Given the description of an element on the screen output the (x, y) to click on. 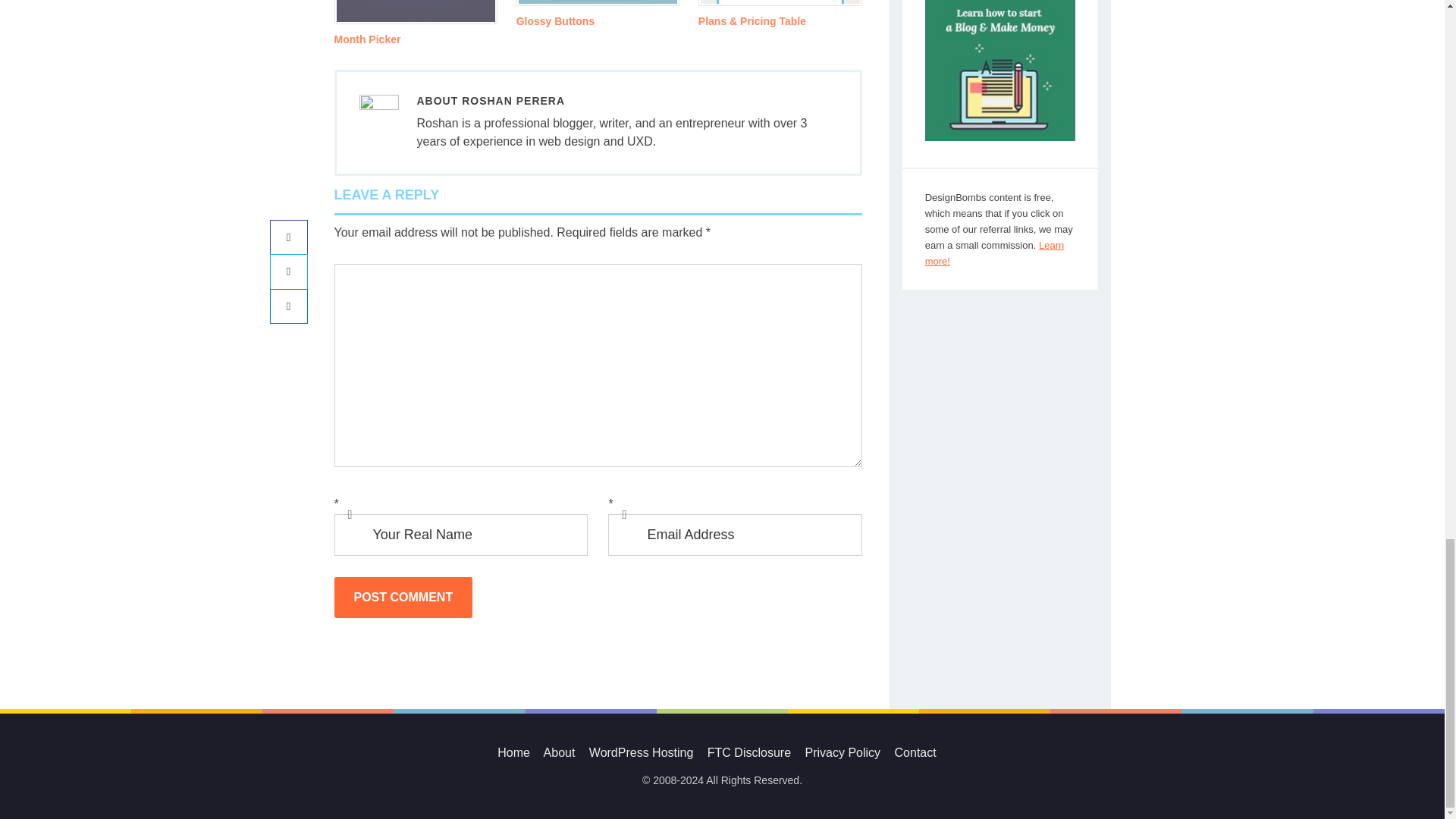
Month Picker (366, 39)
Post Comment (402, 597)
Glossy Buttons (555, 21)
